Given the description of an element on the screen output the (x, y) to click on. 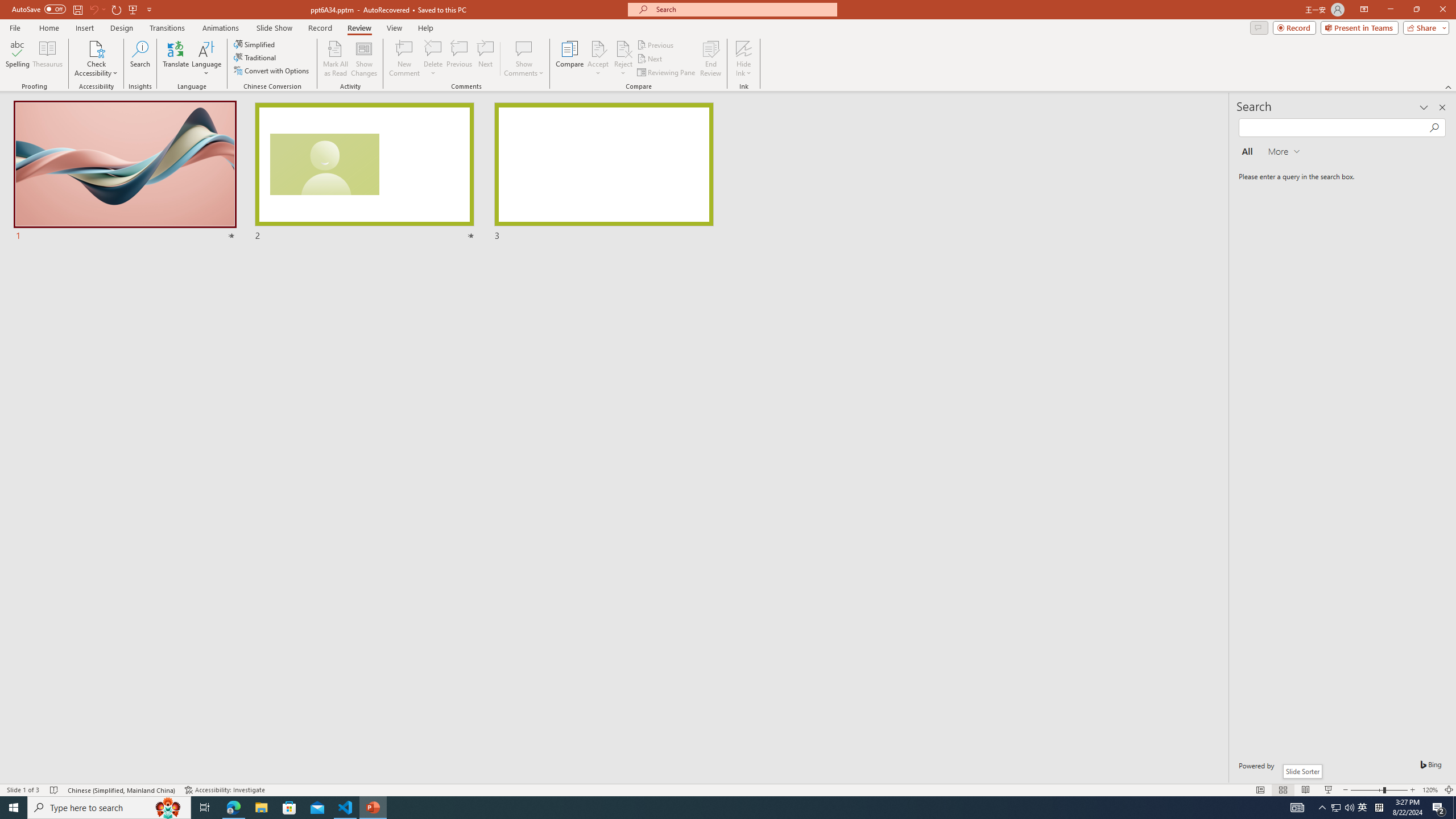
Convert with Options... (272, 69)
End Review (710, 58)
Share (1423, 27)
Reject Change (622, 48)
Restore Down (1416, 9)
Simplified (254, 44)
Hide Ink (743, 58)
Minimize (1390, 9)
Check Accessibility (95, 58)
Zoom In (1412, 790)
Zoom 120% (1430, 790)
Slide Sorter (1302, 771)
Redo (117, 9)
